Given the description of an element on the screen output the (x, y) to click on. 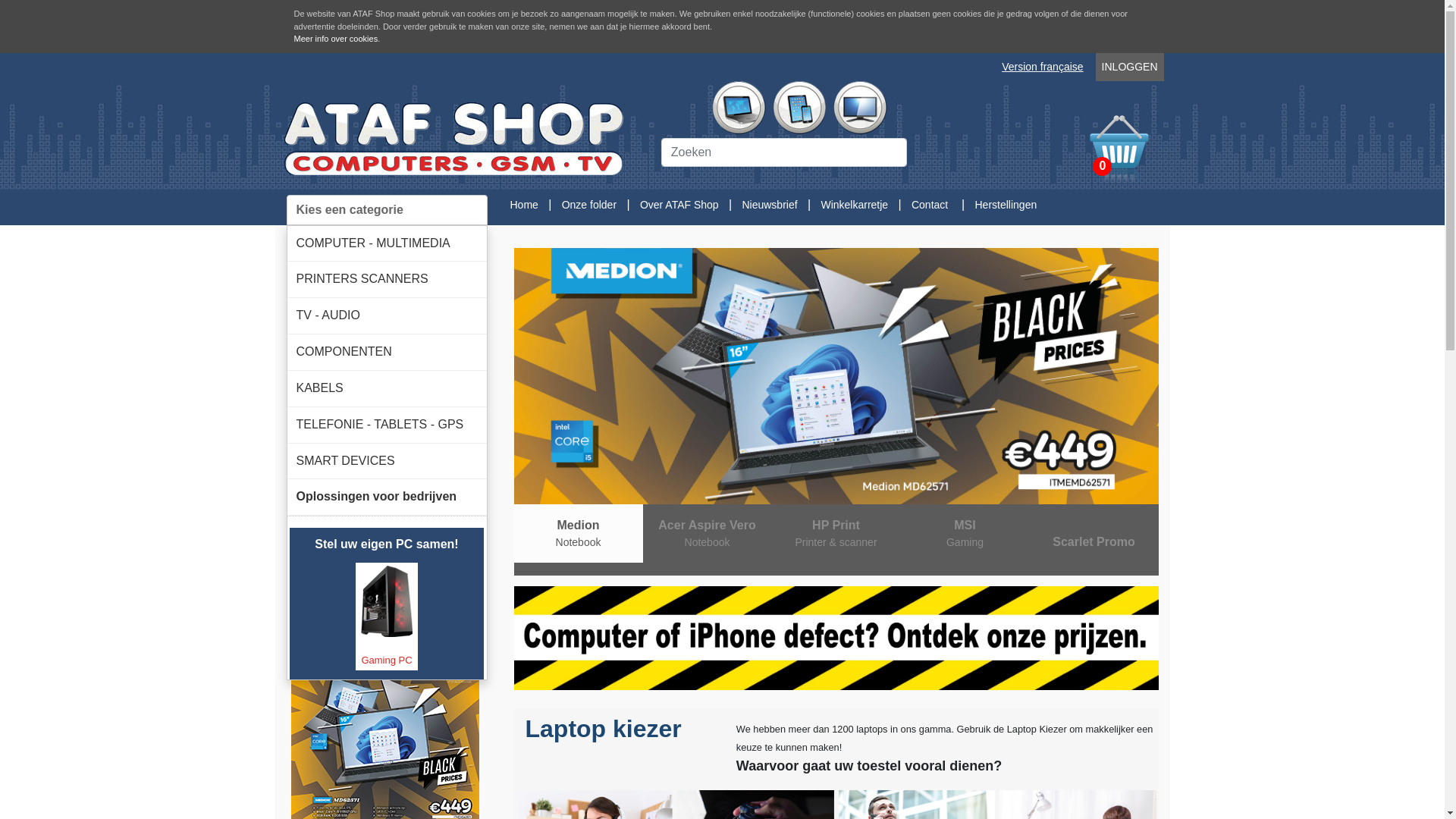
Nieuwsbrief Element type: text (769, 204)
Meer info over cookies Element type: text (336, 38)
Gaming PC Element type: text (386, 615)
Home Element type: text (523, 204)
Onze folder Element type: text (588, 204)
Kies een categorie Element type: text (386, 209)
SMART DEVICES Element type: text (386, 461)
Winkelkarretje Element type: text (854, 204)
COMPONENTEN Element type: text (386, 352)
TV - AUDIO Element type: text (386, 315)
KABELS Element type: text (386, 388)
Oplossingen voor bedrijven Element type: text (386, 496)
COMPUTER - MULTIMEDIA Element type: text (386, 243)
TELEFONIE - TABLETS - GPS Element type: text (386, 424)
Herstellingen Element type: text (1006, 204)
Over ATAF Shop Element type: text (679, 204)
PRINTERS SCANNERS Element type: text (386, 279)
Contact Element type: text (929, 204)
